Given the description of an element on the screen output the (x, y) to click on. 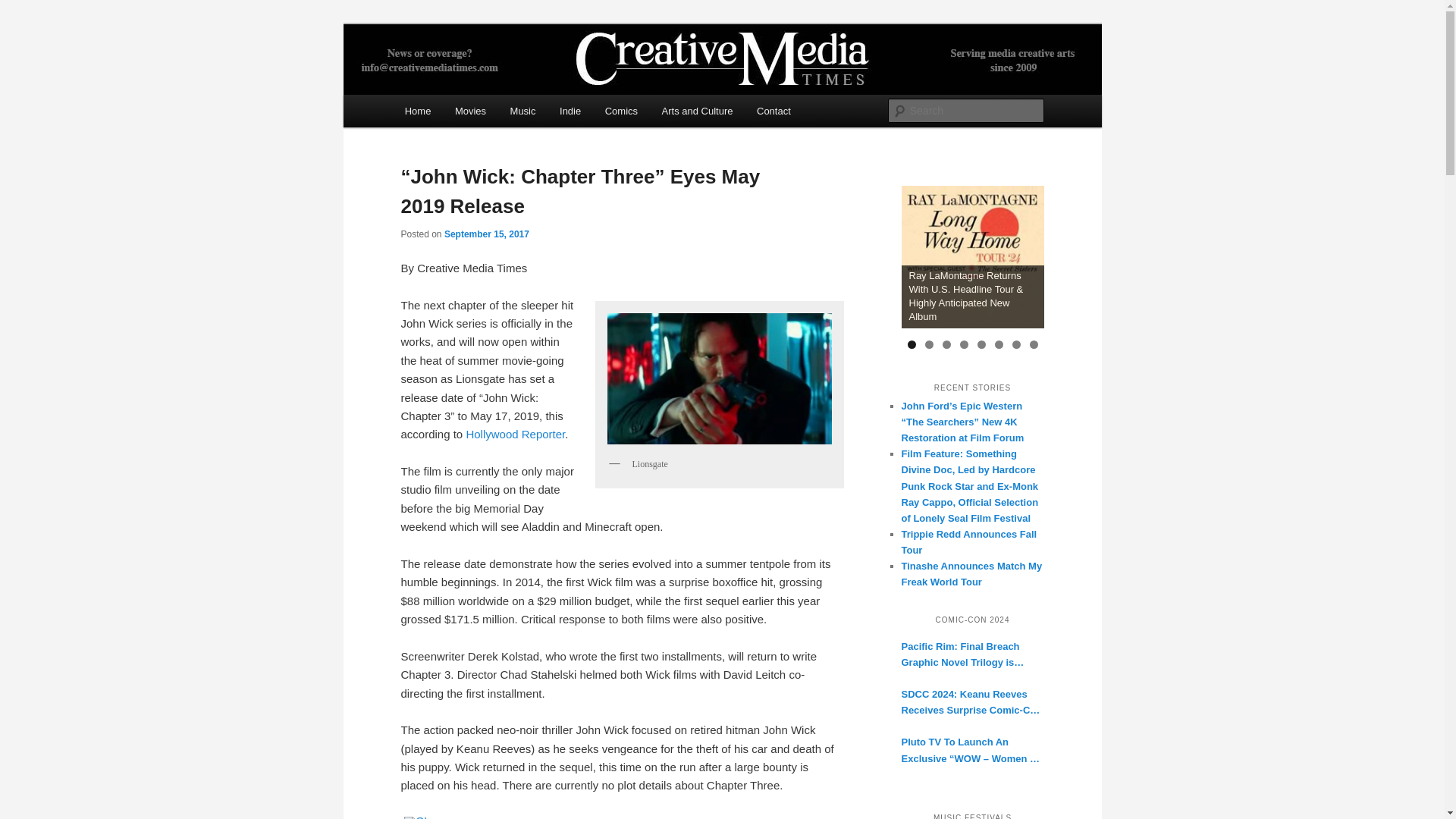
3 (946, 344)
5 (980, 344)
Search (24, 8)
1 (911, 344)
Comics (620, 111)
Contact (773, 111)
Hollywood Reporter (514, 433)
Indie (569, 111)
Home (417, 111)
